Given the description of an element on the screen output the (x, y) to click on. 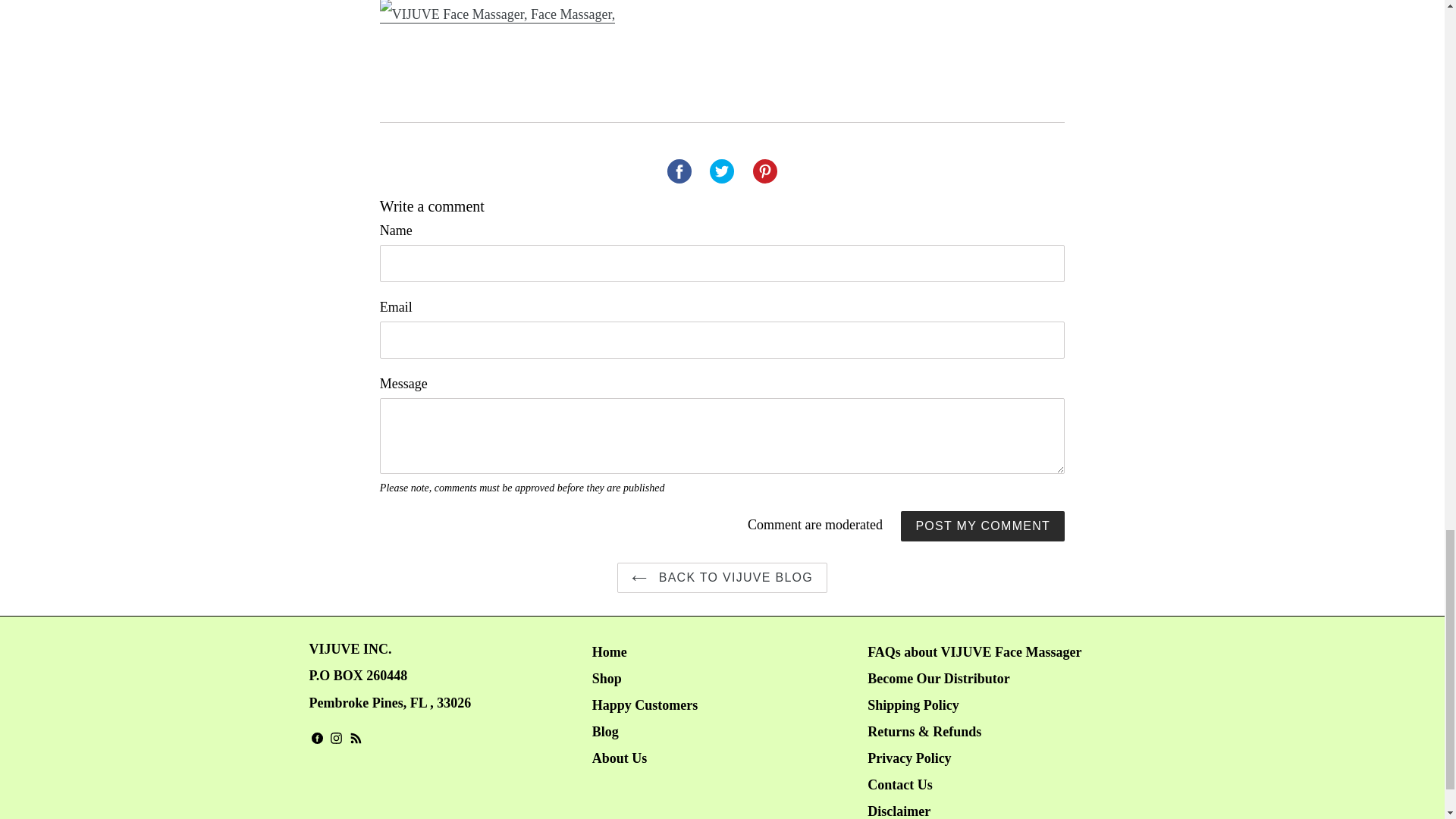
Pin on Pinterest (764, 171)
Tweet on Twitter (721, 171)
Post My Comment (982, 526)
Share on Facebook (678, 171)
